Given the description of an element on the screen output the (x, y) to click on. 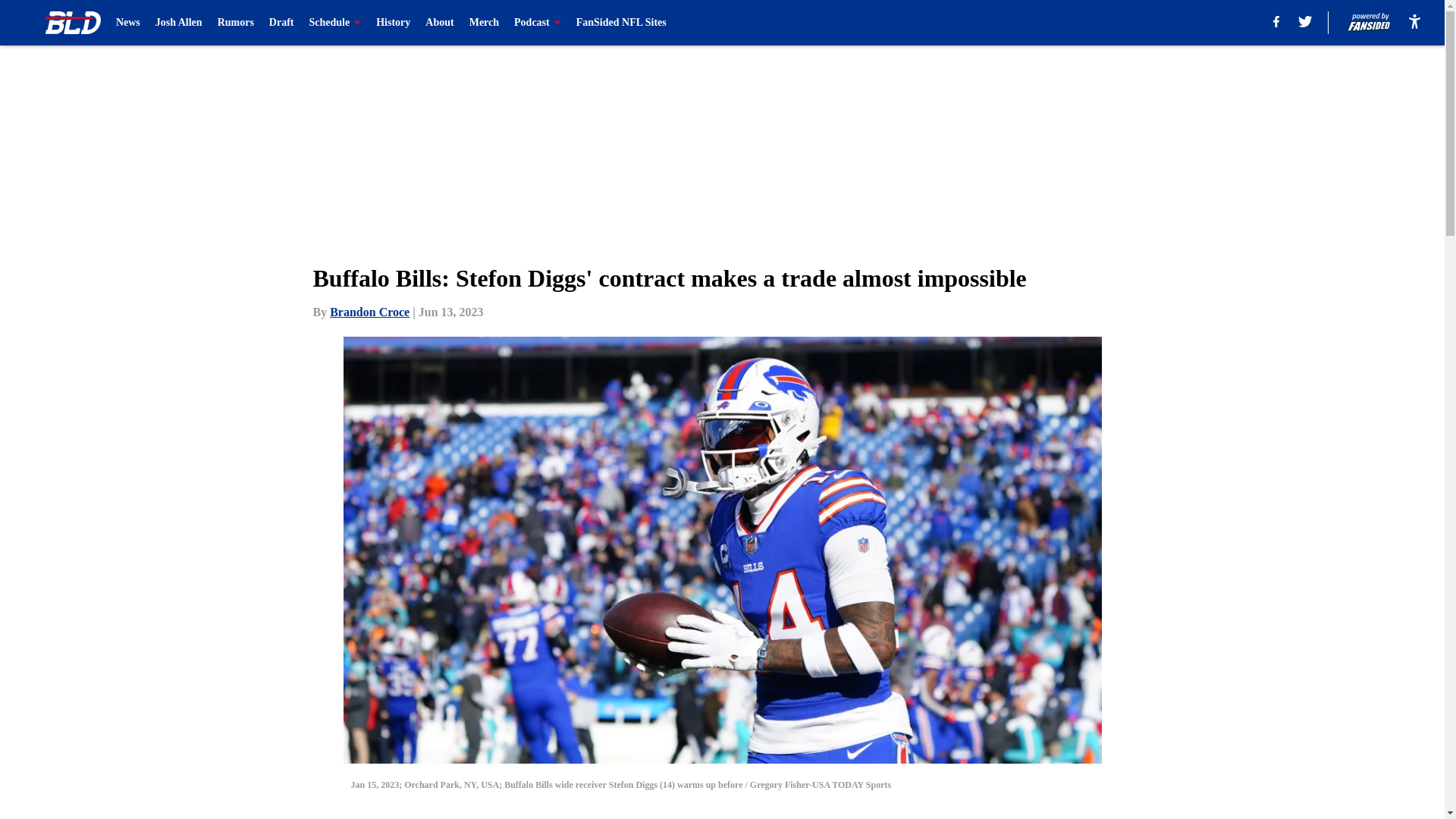
Merch (483, 22)
History (392, 22)
News (127, 22)
Brandon Croce (369, 311)
Josh Allen (178, 22)
Rumors (234, 22)
About (438, 22)
Draft (281, 22)
FanSided NFL Sites (621, 22)
